Given the description of an element on the screen output the (x, y) to click on. 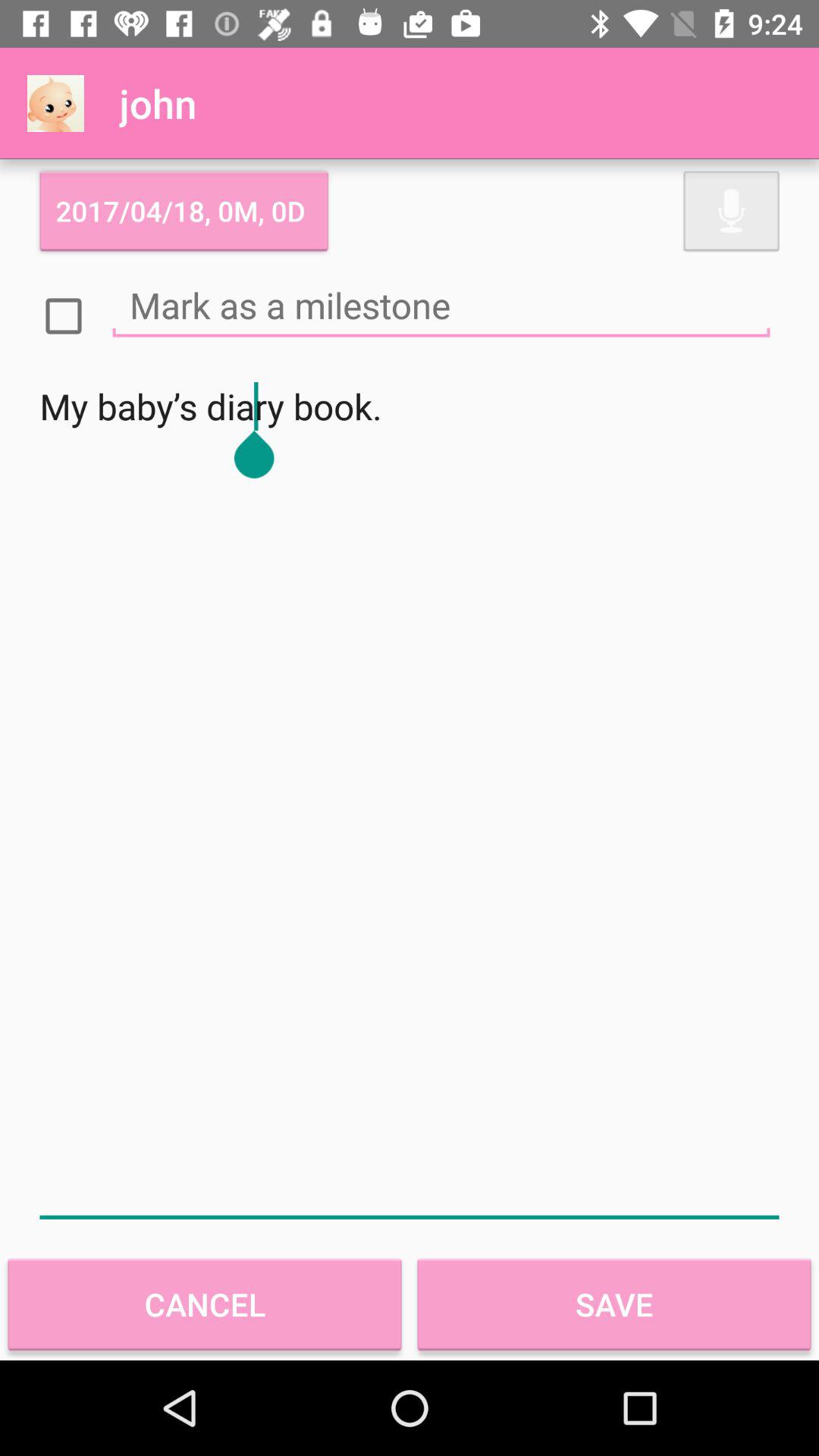
press the item to the left of the john item (55, 103)
